Given the description of an element on the screen output the (x, y) to click on. 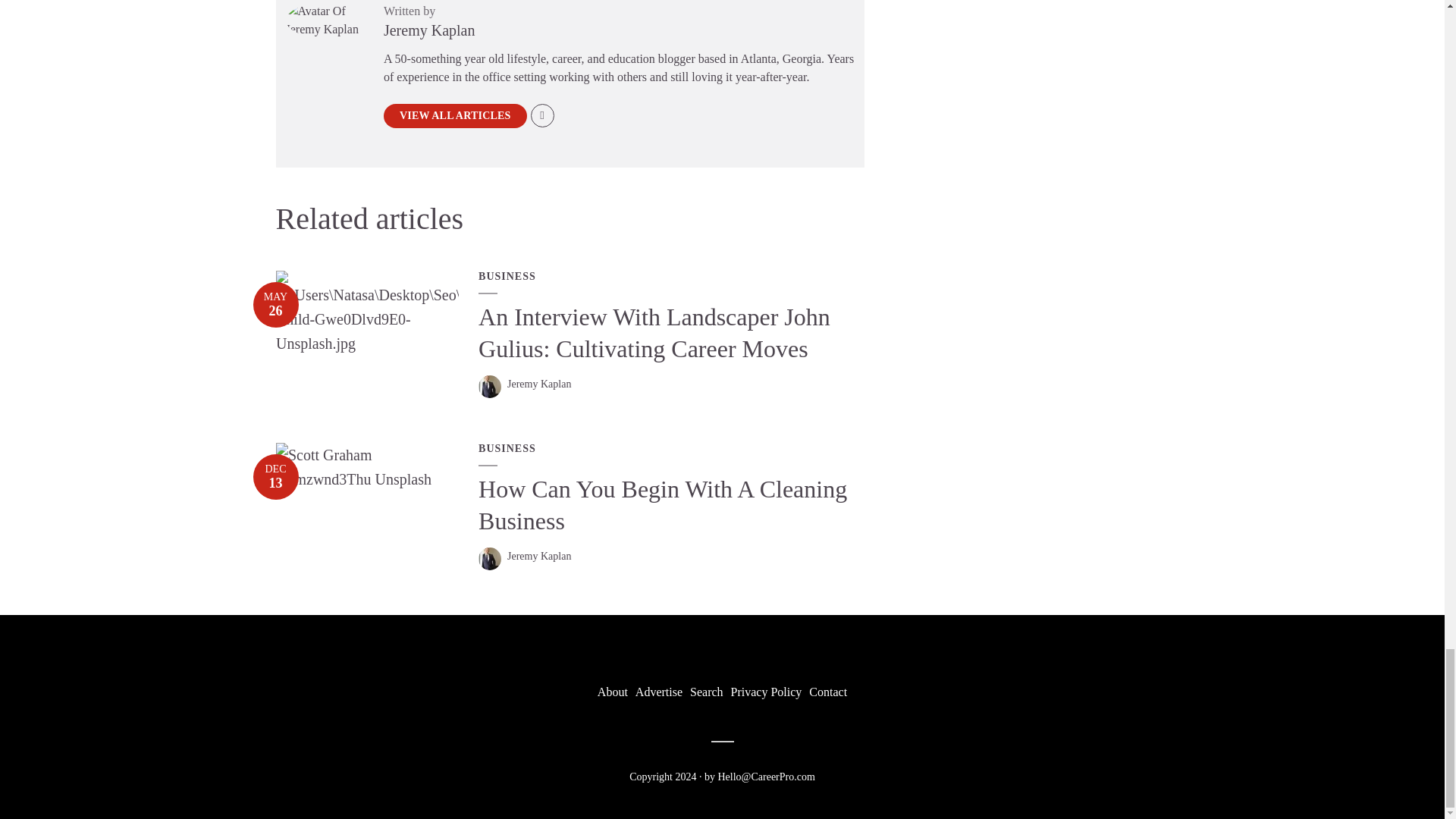
How Can You Begin With A Cleaning Business 6 (368, 467)
VIEW ALL ARTICLES (455, 115)
